Given the description of an element on the screen output the (x, y) to click on. 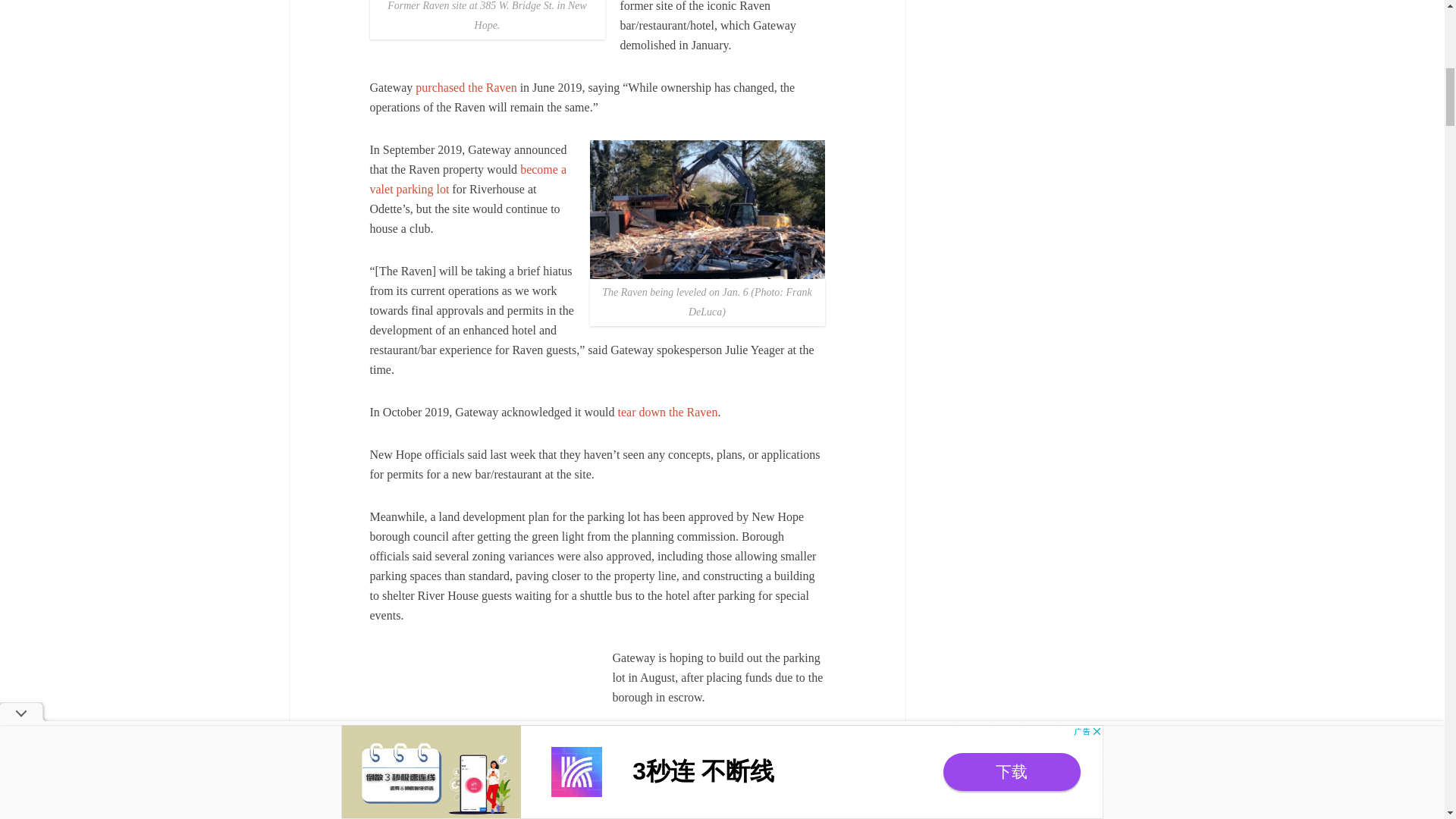
become a valet parking lot (467, 178)
purchased the Raven (465, 87)
tear down the Raven (667, 411)
